Given the description of an element on the screen output the (x, y) to click on. 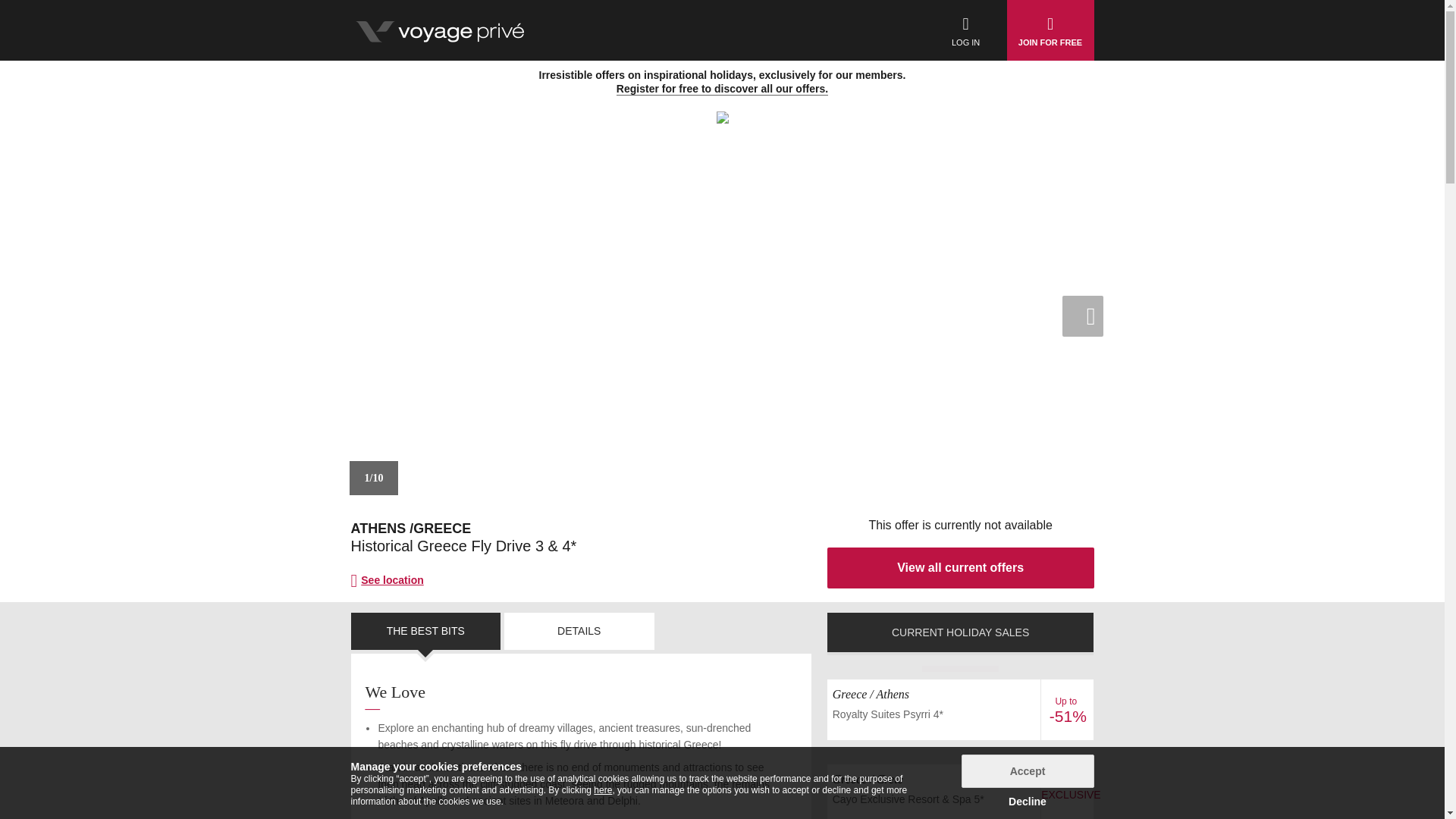
GREECE (441, 528)
THE BEST BITS (425, 631)
Accept (1027, 770)
View all current offers (960, 567)
Register for free to discover all our offers. (721, 88)
LOG IN (966, 30)
Next (1081, 315)
ATHENS (378, 528)
DETAILS (578, 631)
Decline (1027, 801)
